Given the description of an element on the screen output the (x, y) to click on. 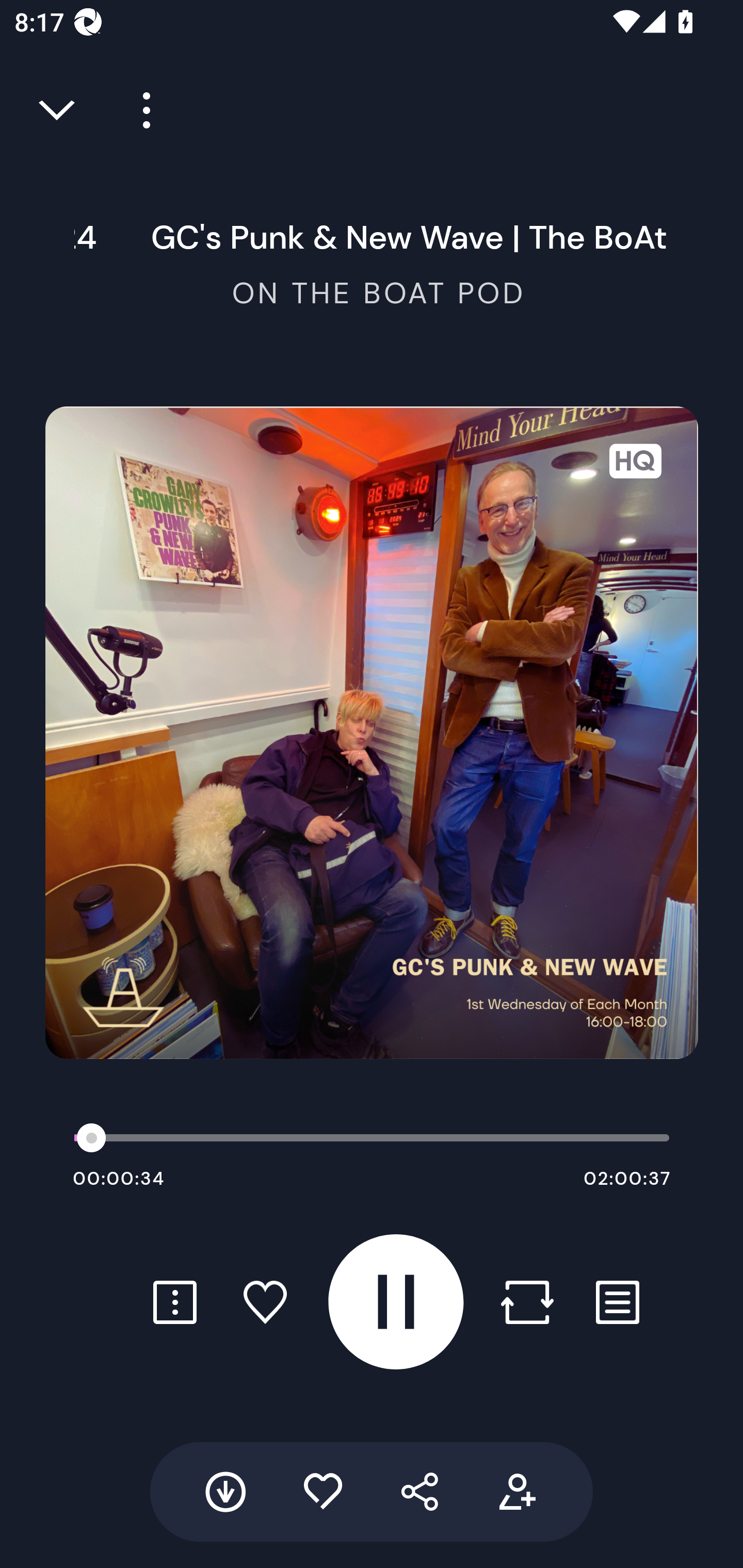
Close full player (58, 110)
Player more options button (139, 110)
Repost button (527, 1301)
